Given the description of an element on the screen output the (x, y) to click on. 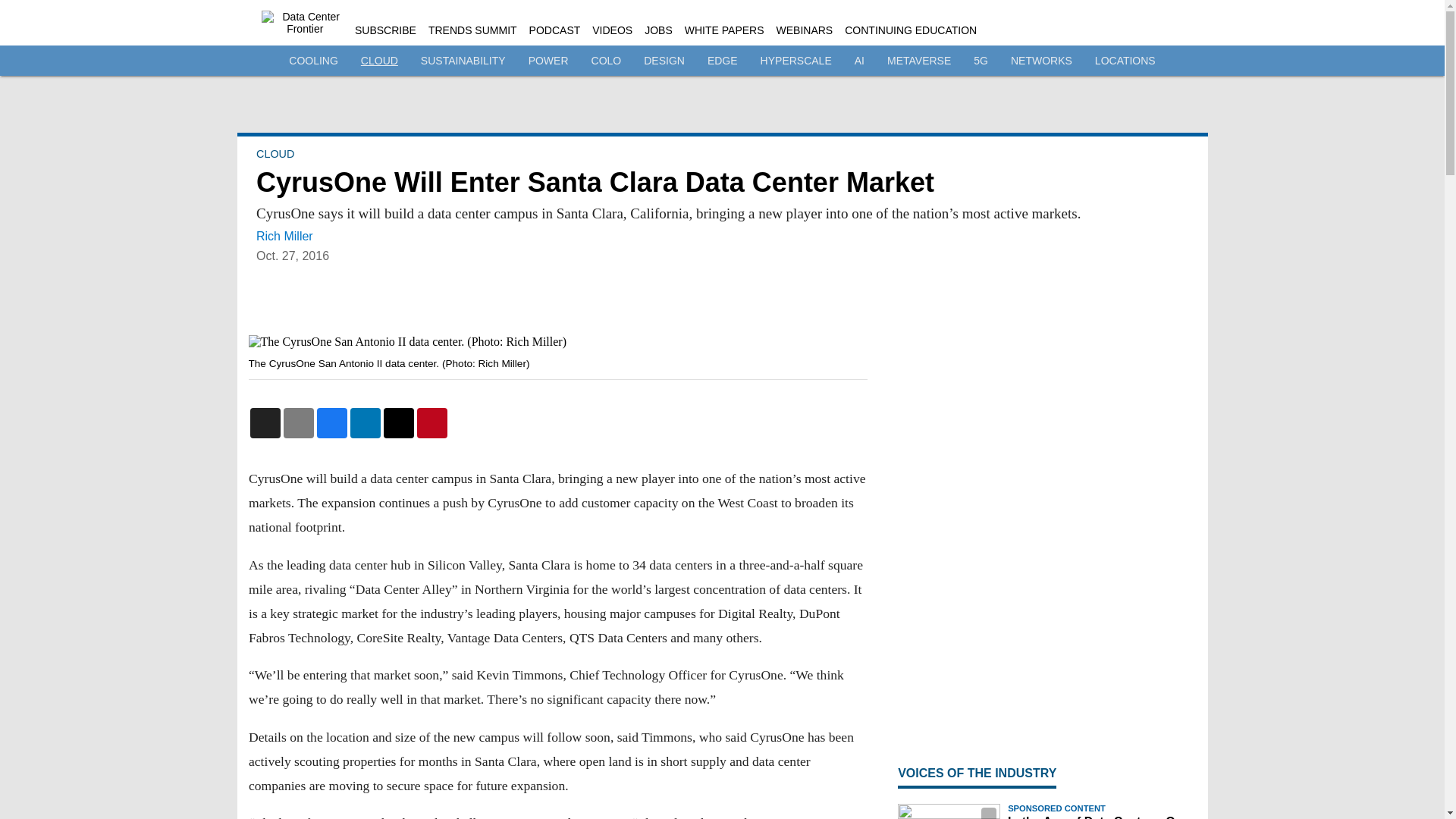
CLOUD (379, 60)
POWER (548, 60)
COOLING (312, 60)
VIDEOS (611, 30)
DESIGN (663, 60)
METAVERSE (918, 60)
COLO (606, 60)
WHITE PAPERS (724, 30)
CLOUD (275, 153)
5G (981, 60)
Rich Miller (284, 236)
SUSTAINABILITY (462, 60)
HYPERSCALE (795, 60)
JOBS (658, 30)
NETWORKS (1040, 60)
